Given the description of an element on the screen output the (x, y) to click on. 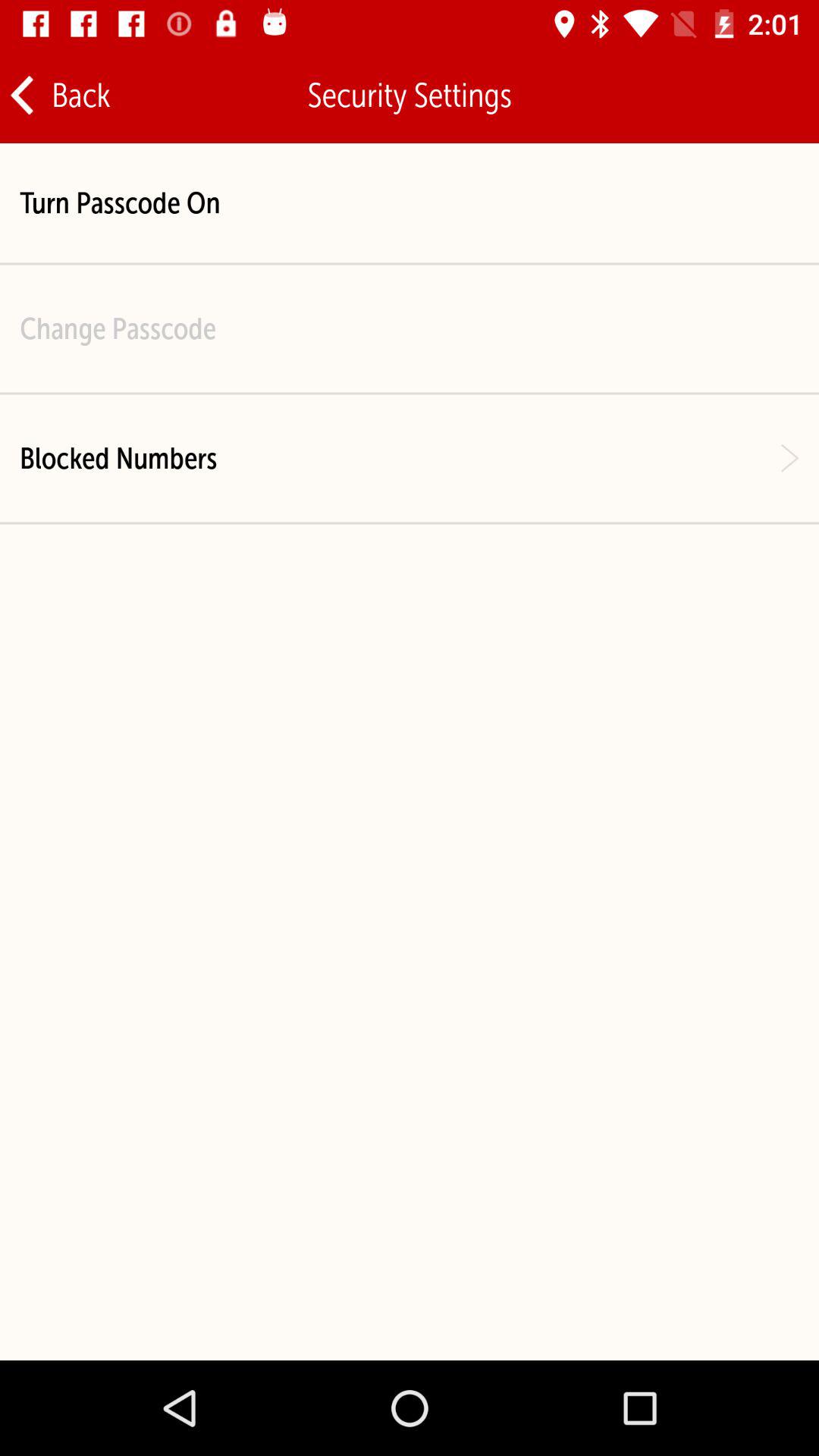
swipe until back (59, 95)
